Given the description of an element on the screen output the (x, y) to click on. 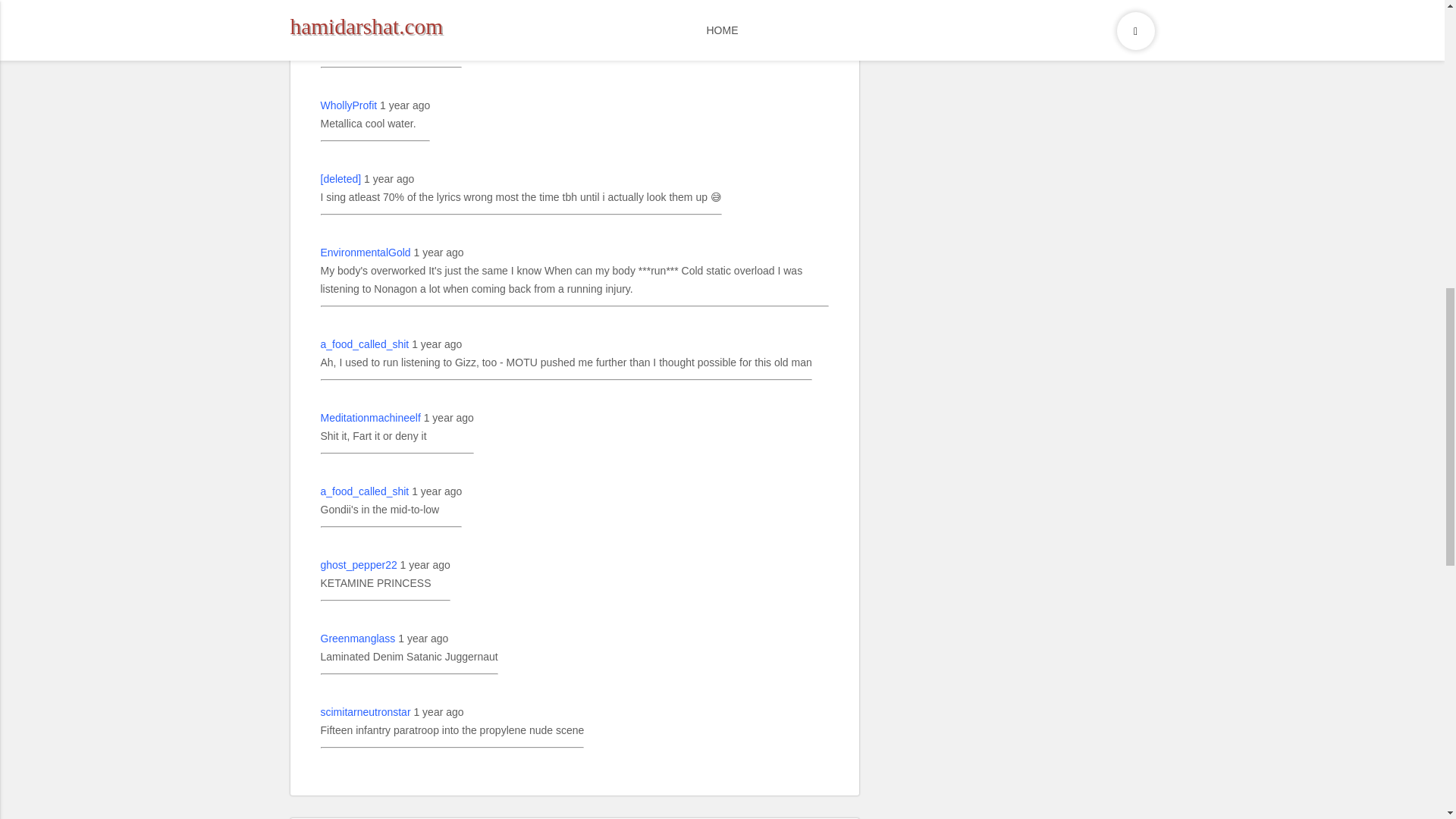
EnvironmentalGold (365, 252)
WhollyProfit (348, 105)
Meditationmachineelf (370, 417)
scimitarneutronstar (365, 711)
Greenmanglass (357, 638)
